Given the description of an element on the screen output the (x, y) to click on. 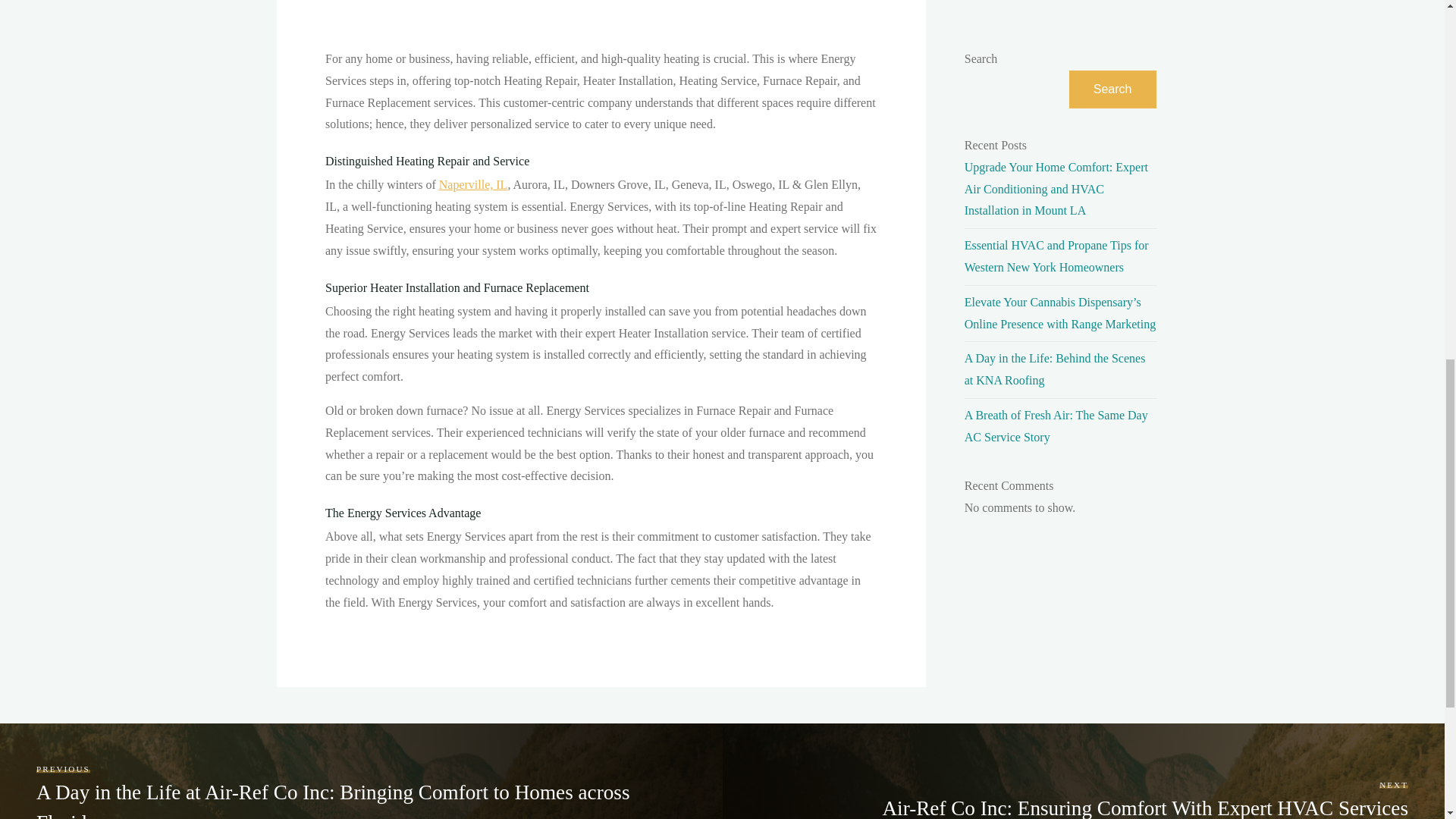
A Breath of Fresh Air: The Same Day AC Service Story (1055, 425)
A Day in the Life: Behind the Scenes at KNA Roofing (1054, 369)
Search (1112, 89)
Naperville, IL (472, 184)
